Given the description of an element on the screen output the (x, y) to click on. 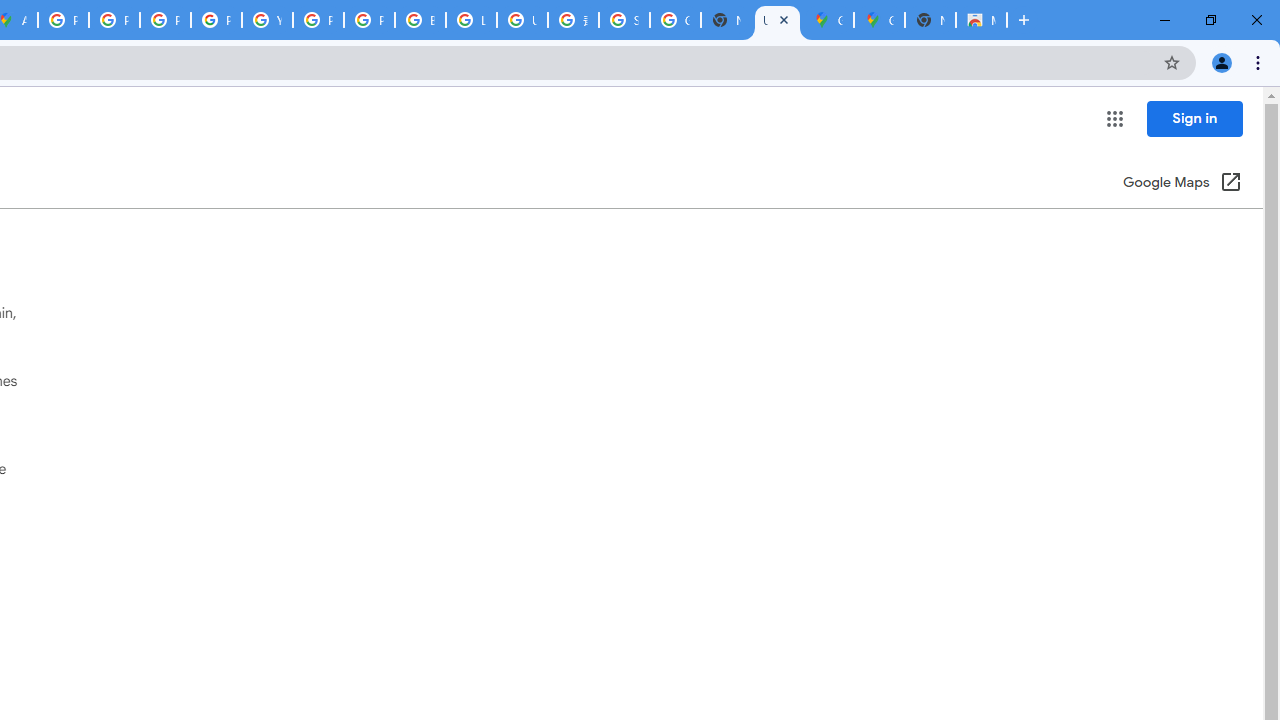
Policy Accountability and Transparency - Transparency Center (63, 20)
New Tab (930, 20)
Privacy Help Center - Policies Help (164, 20)
Sign in - Google Accounts (624, 20)
Privacy Help Center - Policies Help (113, 20)
Google Maps (Open in a new window) (1182, 183)
YouTube (267, 20)
